Given the description of an element on the screen output the (x, y) to click on. 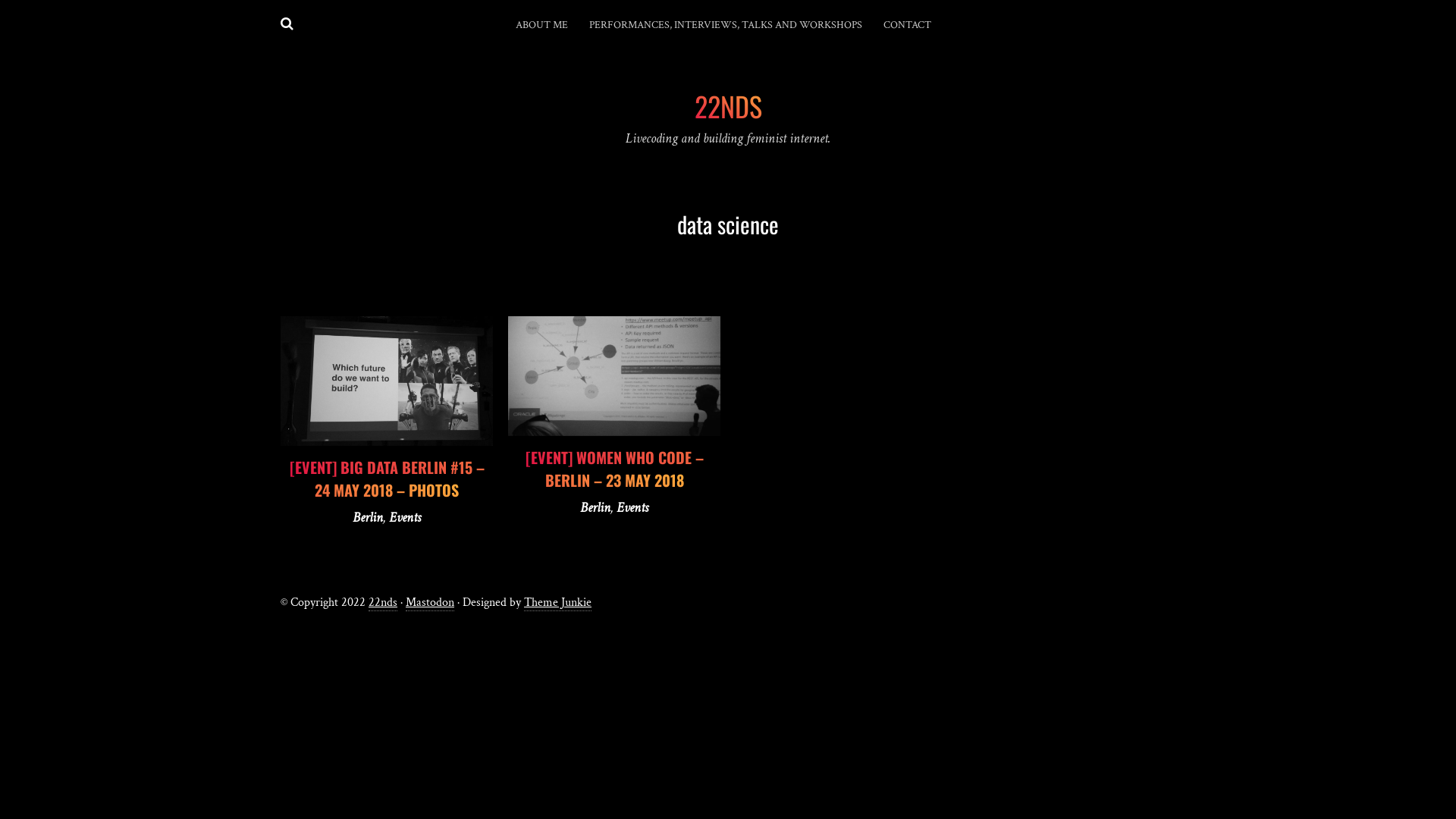
Berlin Element type: text (367, 517)
Theme Junkie Element type: text (557, 602)
Events Element type: text (404, 517)
Events Element type: text (632, 507)
CONTACT Element type: text (907, 25)
Mastodon Element type: text (429, 602)
PERFORMANCES, INTERVIEWS, TALKS AND WORKSHOPS Element type: text (725, 25)
22nds Element type: text (382, 602)
22NDS Element type: text (728, 104)
ABOUT ME Element type: text (541, 25)
Berlin Element type: text (595, 507)
